Given the description of an element on the screen output the (x, y) to click on. 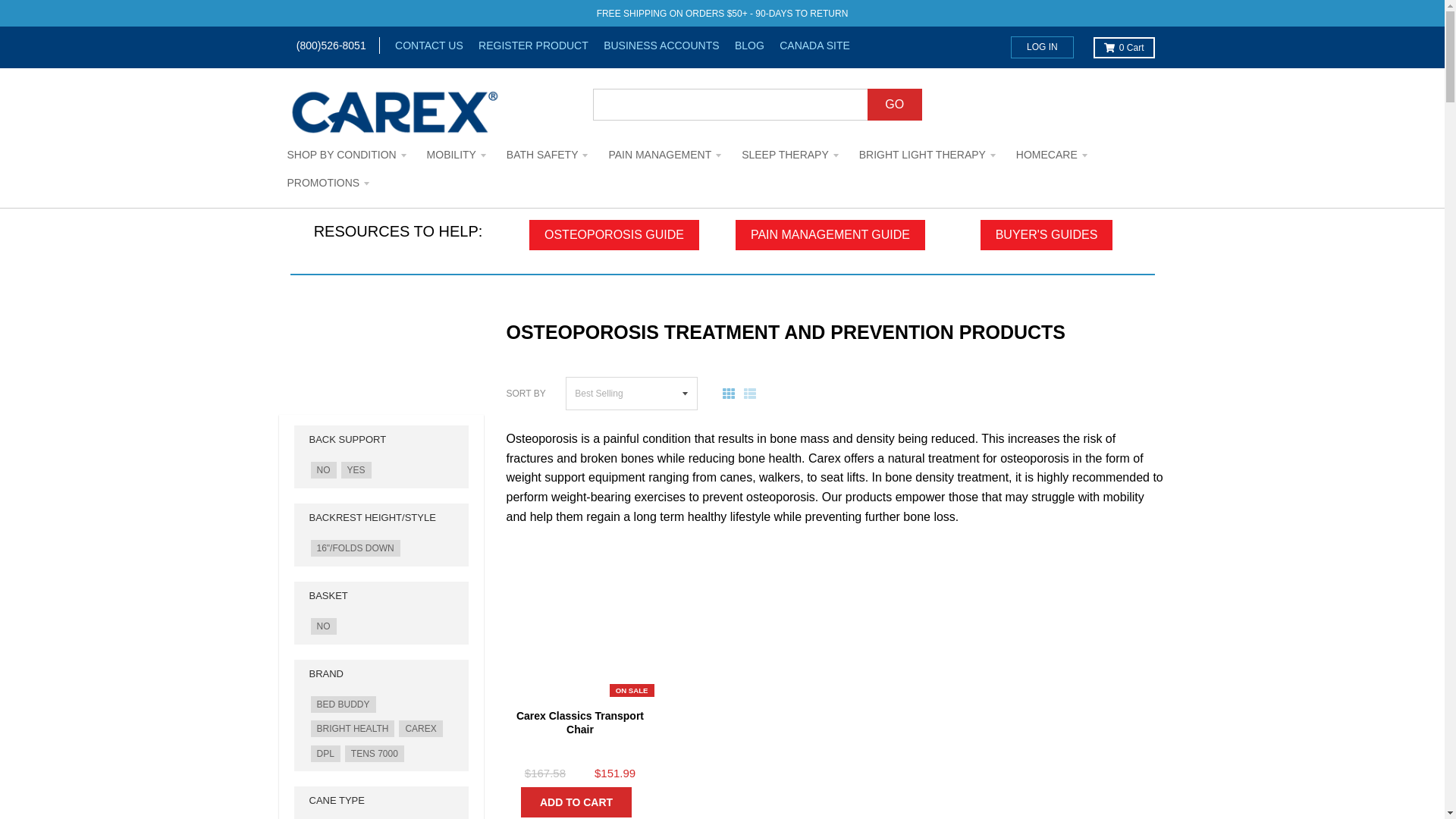
0 Cart (1123, 46)
LOG IN (1042, 47)
CANADA SITE (808, 45)
BUSINESS ACCOUNTS (655, 45)
SHOP BY CONDITION (346, 154)
BLOG (743, 45)
GO (894, 104)
REGISTER PRODUCT (526, 45)
MOBILITY (457, 154)
CONTACT US (422, 45)
